Given the description of an element on the screen output the (x, y) to click on. 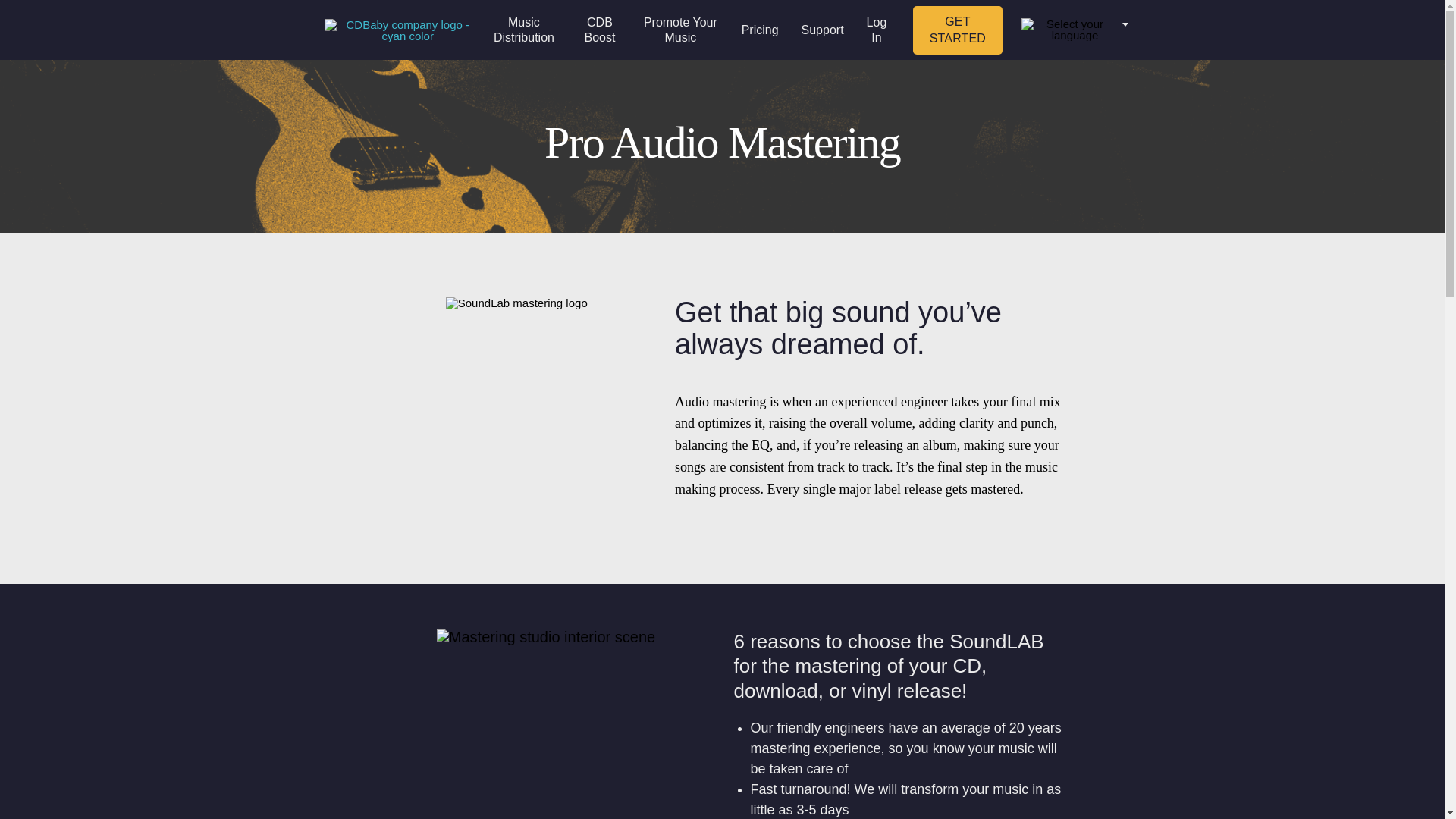
GET STARTED (956, 29)
Select your language (1069, 29)
Music Distribution (524, 29)
Support (823, 29)
Log In (877, 29)
CDBaby.com (402, 29)
Pricing (760, 29)
Promote Your Music (680, 29)
CDB Boost (599, 29)
